Given the description of an element on the screen output the (x, y) to click on. 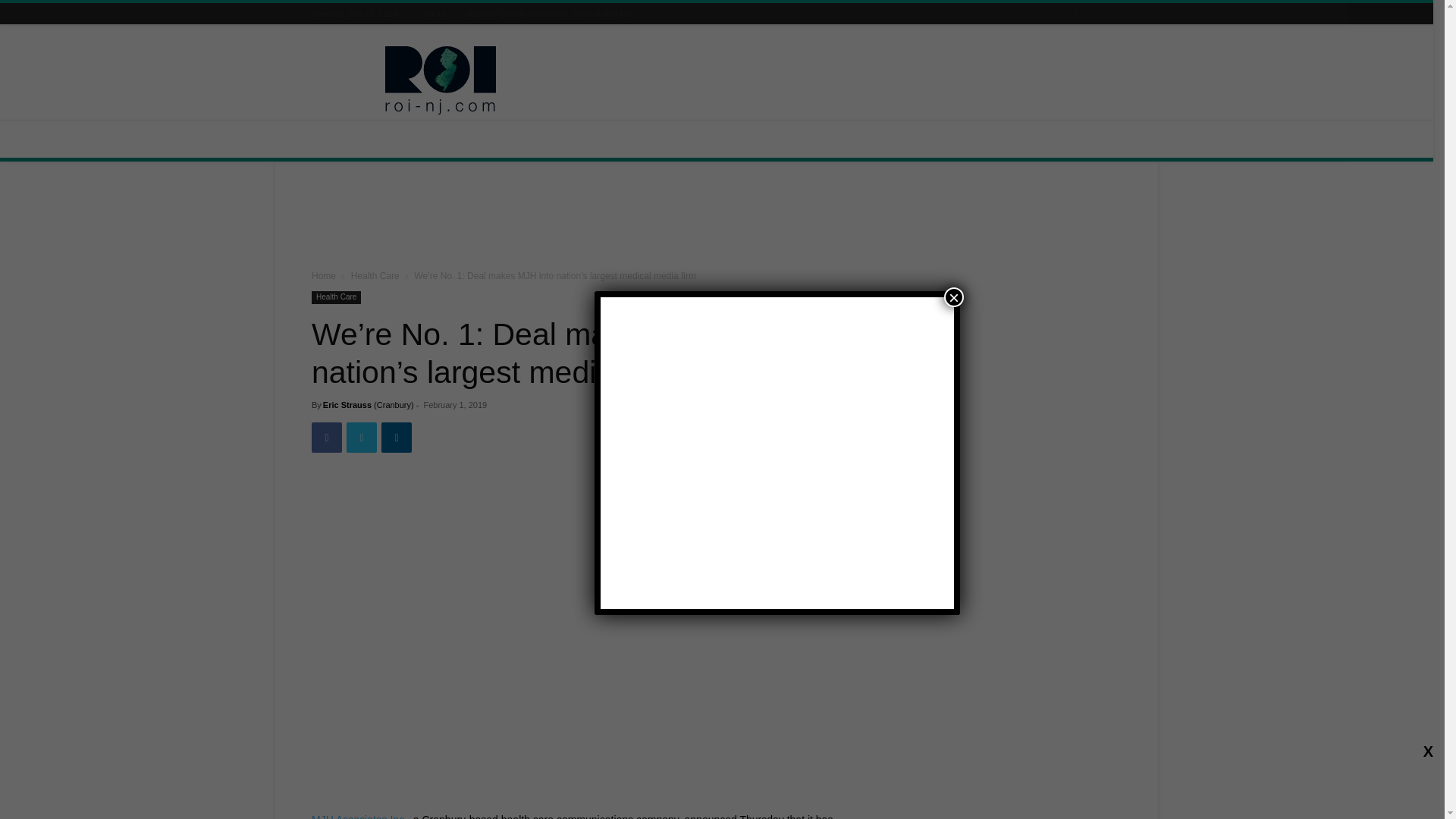
View all posts in Health Care (374, 276)
Facebook (326, 437)
Twitter (361, 437)
3rd party ad content (845, 79)
3rd party ad content (716, 218)
Linkedin (396, 437)
